Given the description of an element on the screen output the (x, y) to click on. 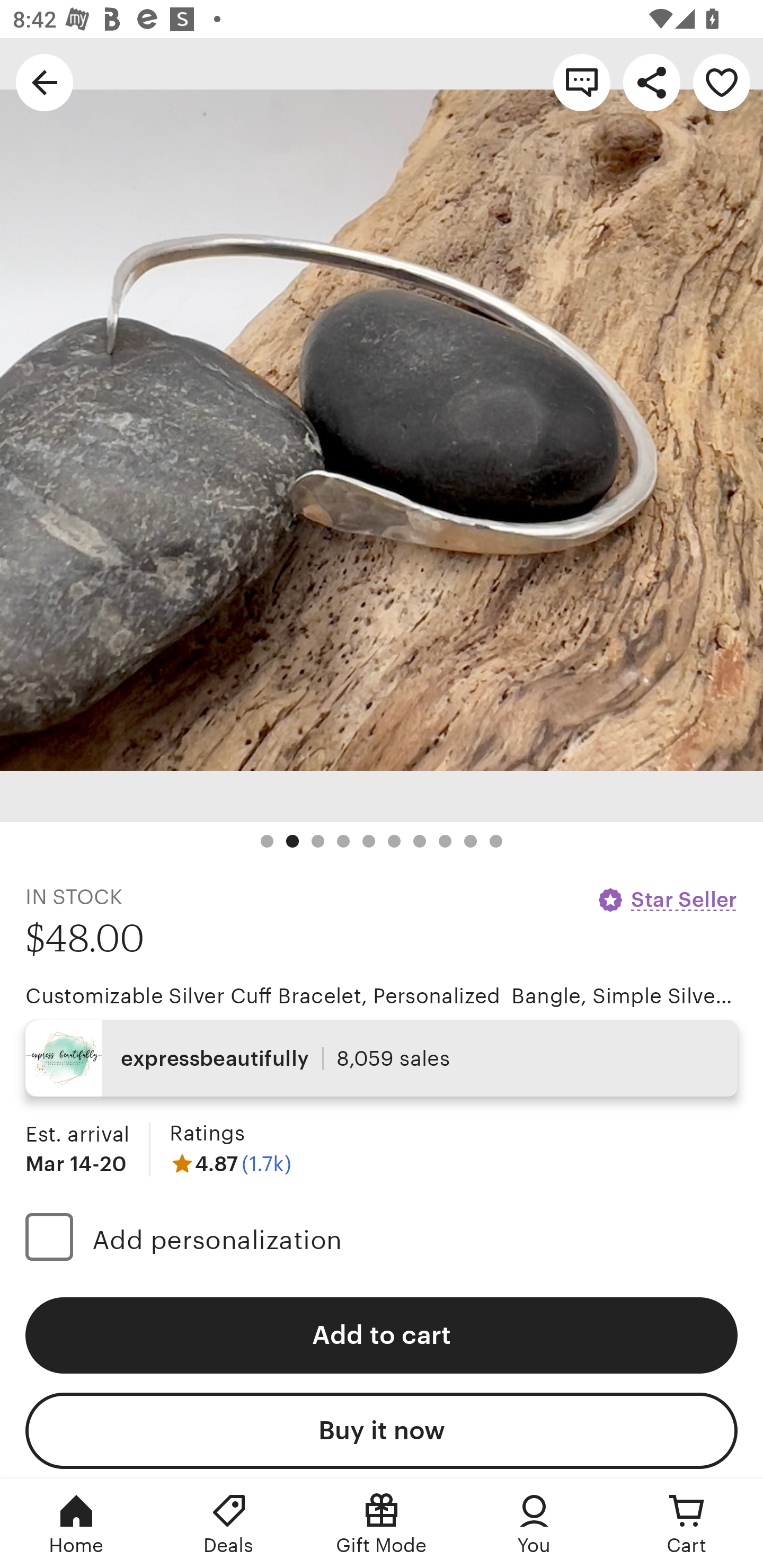
Navigate up (44, 81)
Contact shop (581, 81)
Share (651, 81)
Star Seller (666, 899)
expressbeautifully 8,059 sales (381, 1058)
Ratings (206, 1133)
4.87 (1.7k) (230, 1163)
Add personalization (optional) Add personalization (381, 1239)
Add to cart (381, 1334)
Buy it now (381, 1430)
Deals (228, 1523)
Gift Mode (381, 1523)
You (533, 1523)
Cart (686, 1523)
